Given the description of an element on the screen output the (x, y) to click on. 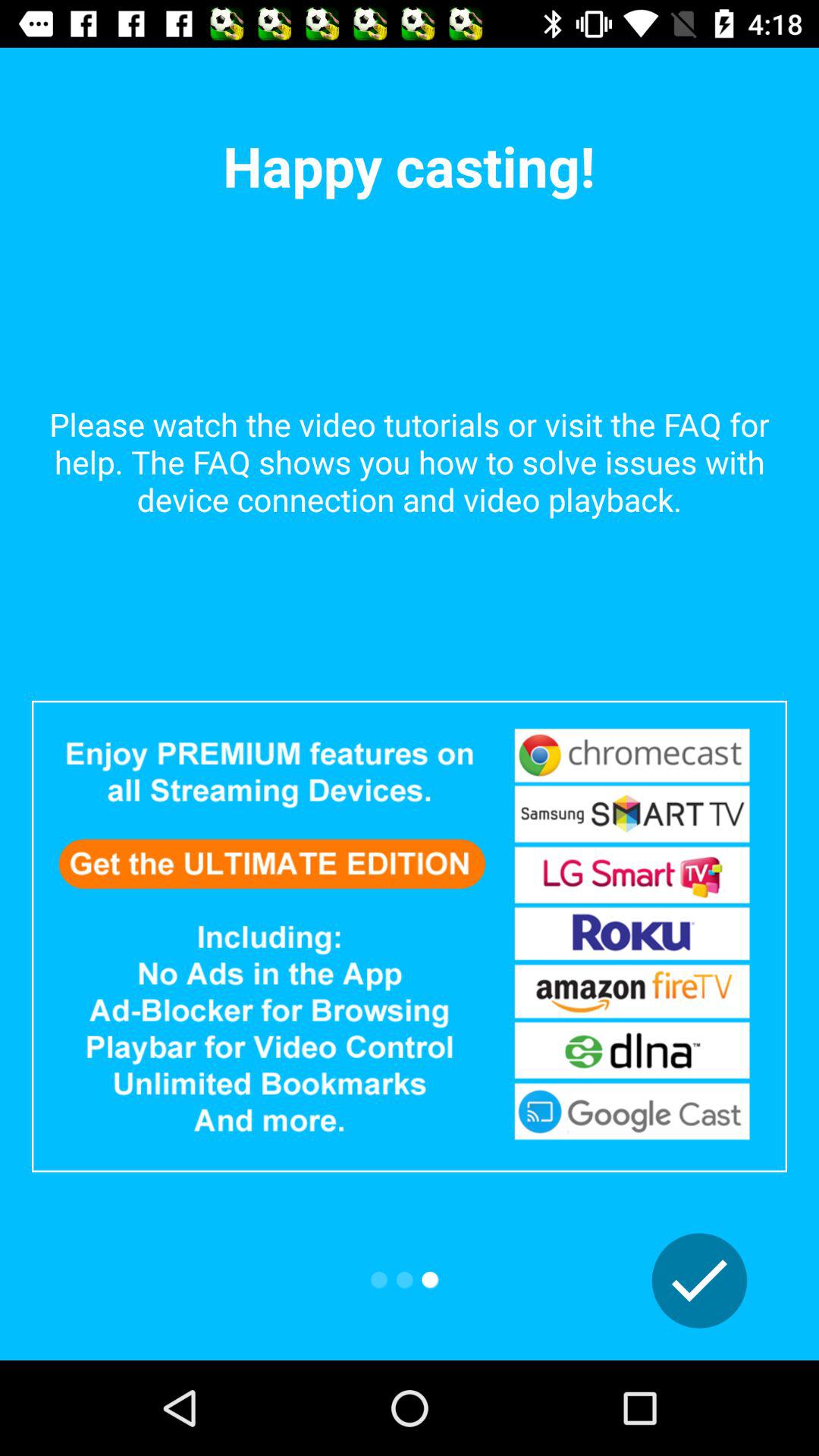
submit (699, 1280)
